Given the description of an element on the screen output the (x, y) to click on. 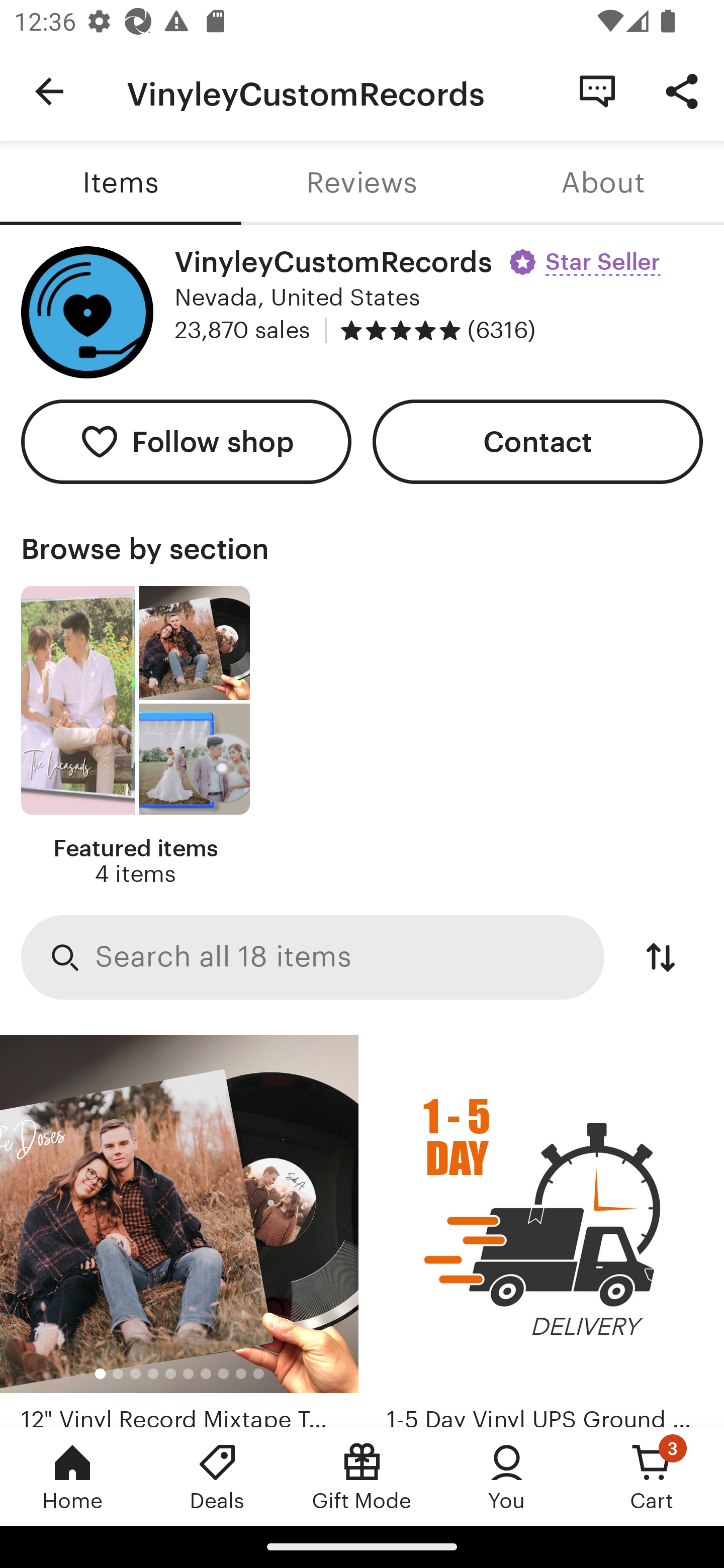
Navigate up (49, 91)
Contact Shop (597, 90)
Share (681, 90)
Reviews (361, 183)
About (603, 183)
Star Seller (587, 255)
Follow shop (185, 441)
Contact (537, 441)
Featured items 4 items (134, 736)
Search Search all 18 items (312, 957)
1-5 Day Vinyl UPS Ground Shipping: ADD ON (544, 1230)
Deals (216, 1475)
Gift Mode (361, 1475)
You (506, 1475)
Cart, 3 new notifications Cart (651, 1475)
